Given the description of an element on the screen output the (x, y) to click on. 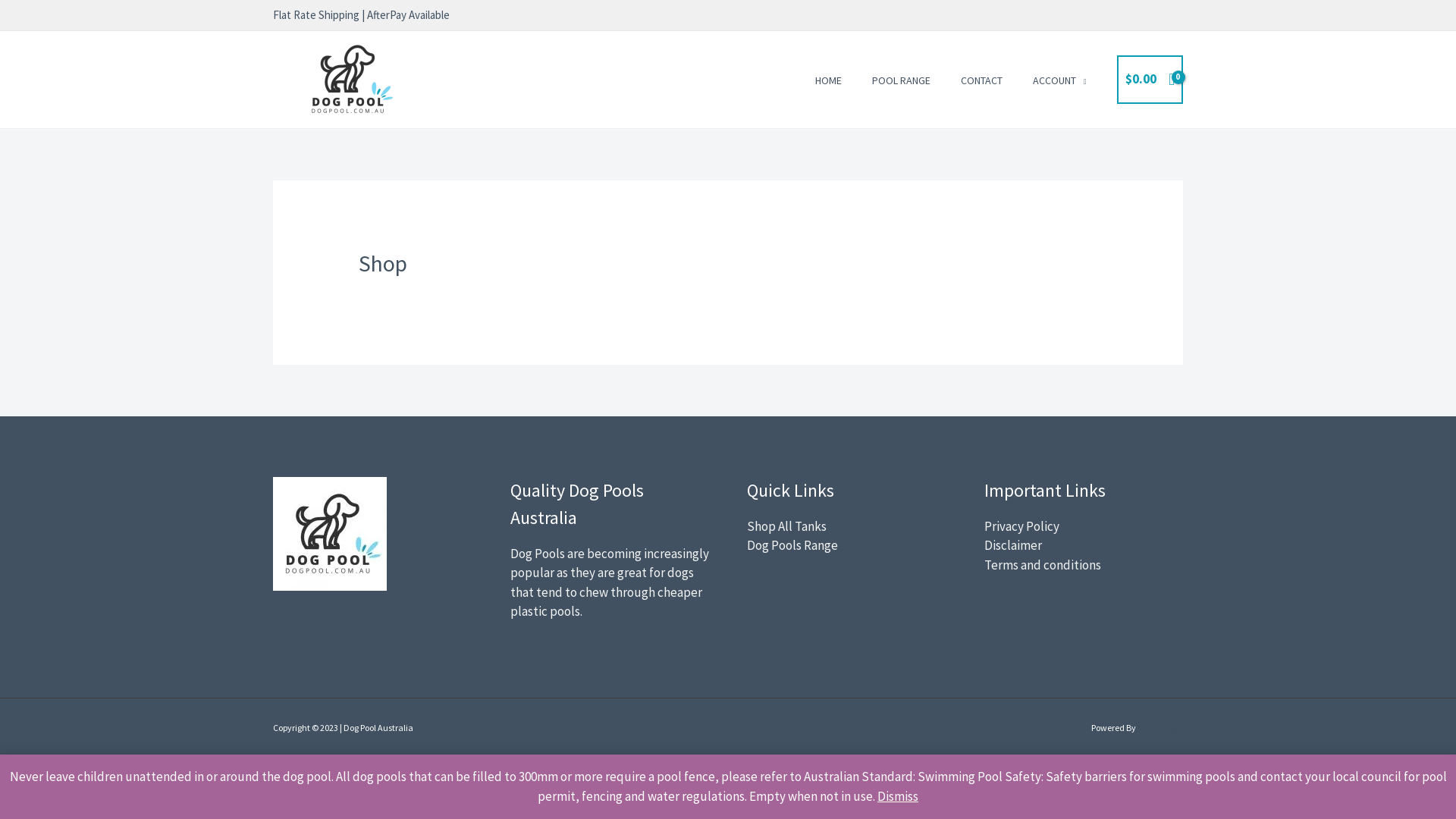
Privacy Policy Element type: text (1021, 525)
$0.00 Element type: text (1150, 79)
Dismiss Element type: text (897, 795)
POOL RANGE Element type: text (900, 79)
ACCOUNT Element type: text (1059, 79)
Disclaimer Element type: text (1012, 544)
Web Design  Element type: text (1160, 727)
Terms and conditions Element type: text (1042, 564)
Shop All Tanks Element type: text (786, 525)
HOME Element type: text (828, 79)
Dog Pools Range Element type: text (791, 544)
CONTACT Element type: text (981, 79)
